Given the description of an element on the screen output the (x, y) to click on. 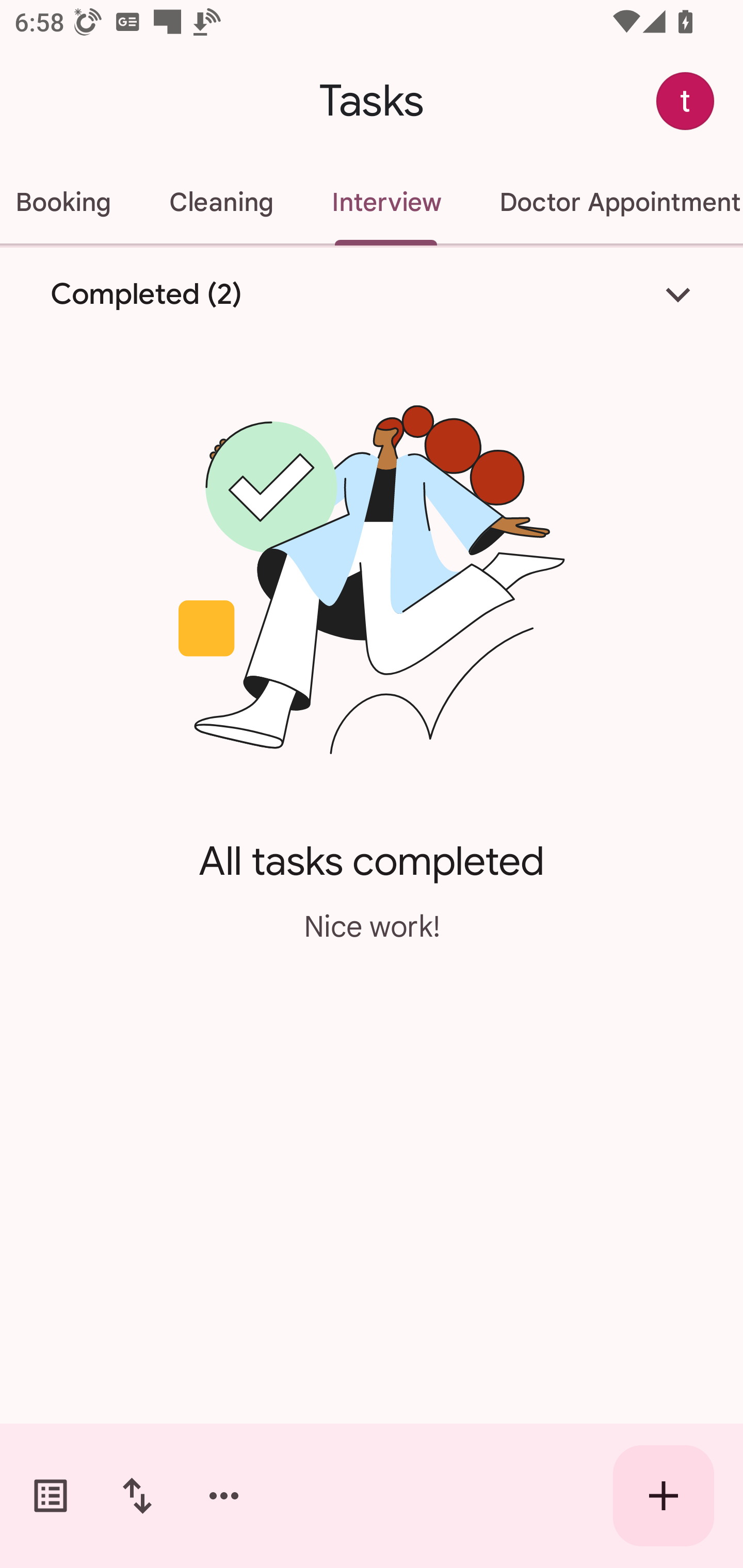
Hotel Booking (69, 202)
Cleaning (220, 202)
Doctor Appointment (606, 202)
Completed (2) (371, 294)
Switch task lists (50, 1495)
Create new task (663, 1495)
Change sort order (136, 1495)
More options (223, 1495)
